Given the description of an element on the screen output the (x, y) to click on. 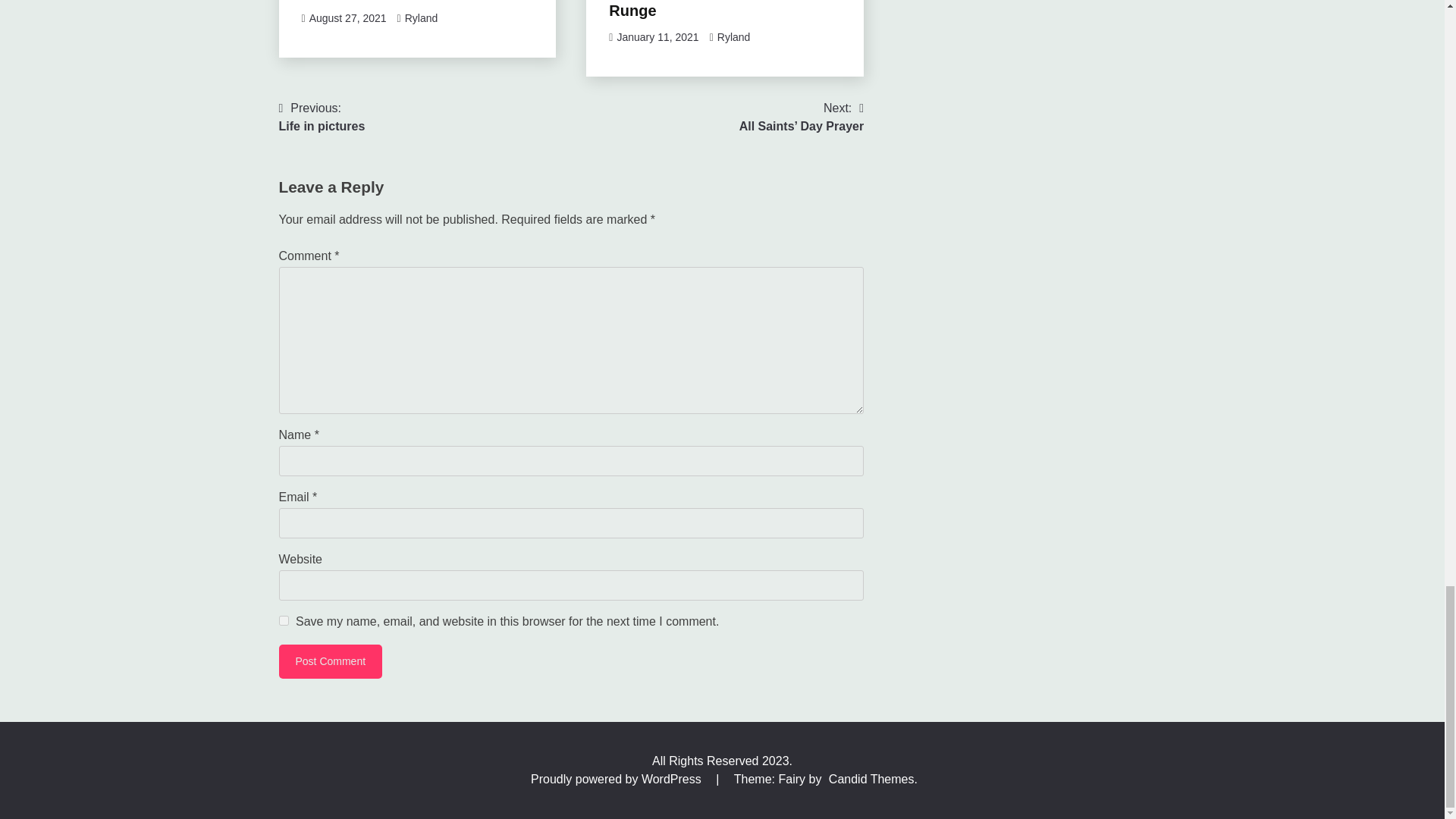
Post Comment (330, 661)
yes (283, 620)
Ryland (421, 18)
August 27, 2021 (347, 18)
January 11, 2021 (656, 37)
